Given the description of an element on the screen output the (x, y) to click on. 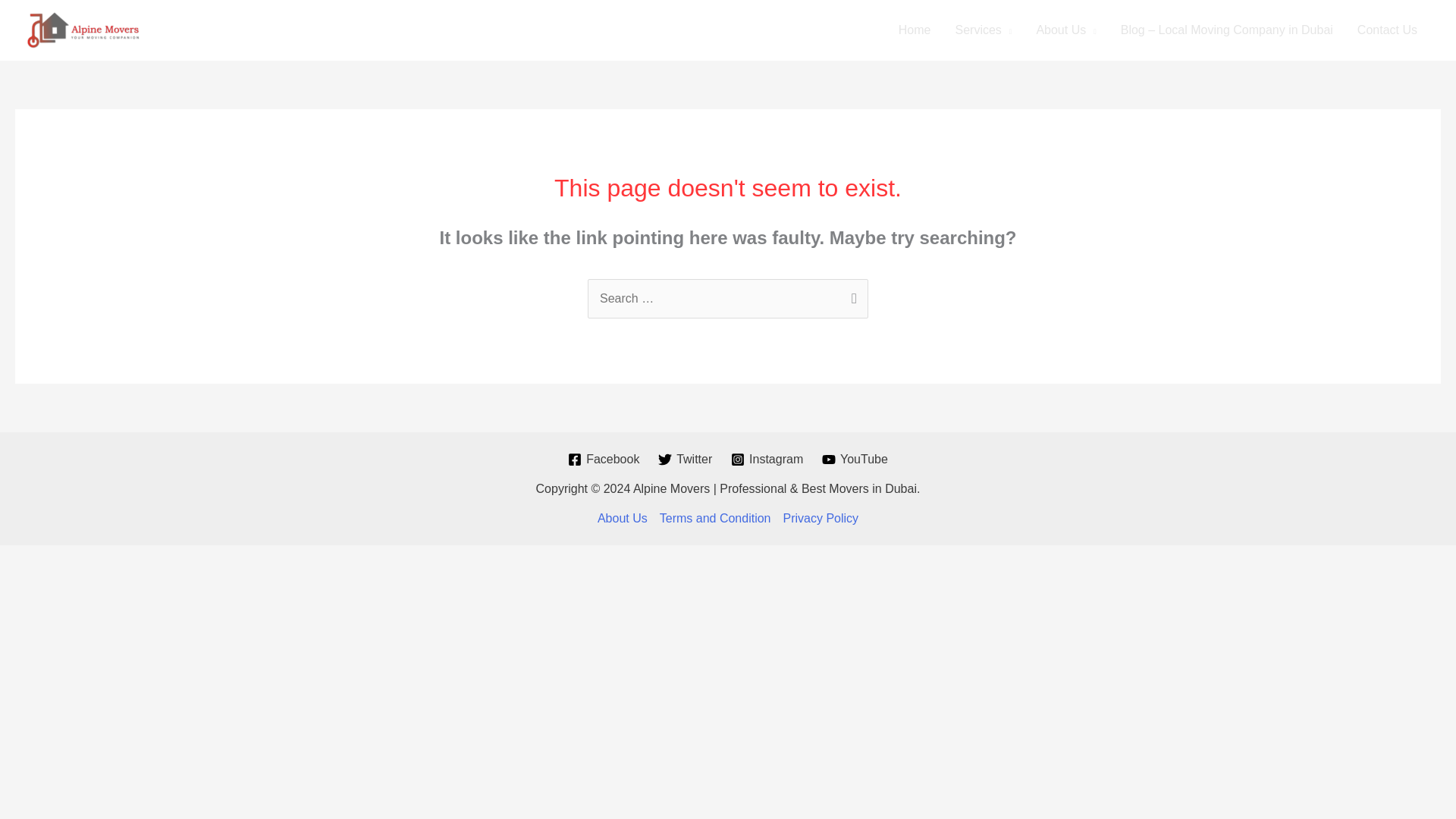
Contact Us (1387, 29)
About Us (1065, 29)
Home (914, 29)
Services (984, 29)
